Given the description of an element on the screen output the (x, y) to click on. 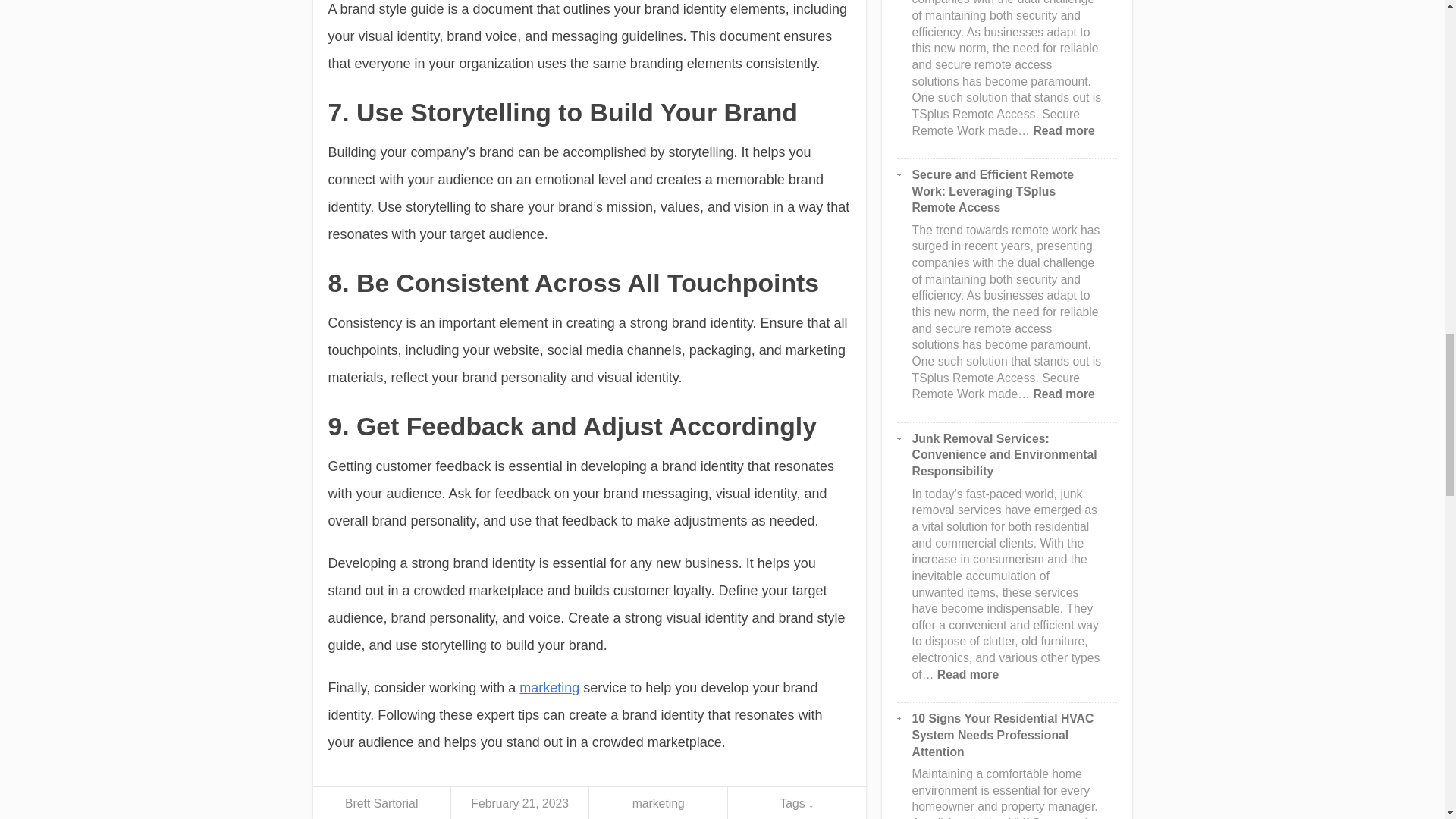
marketing (549, 687)
Brett Sartorial (381, 802)
marketing (657, 802)
